Given the description of an element on the screen output the (x, y) to click on. 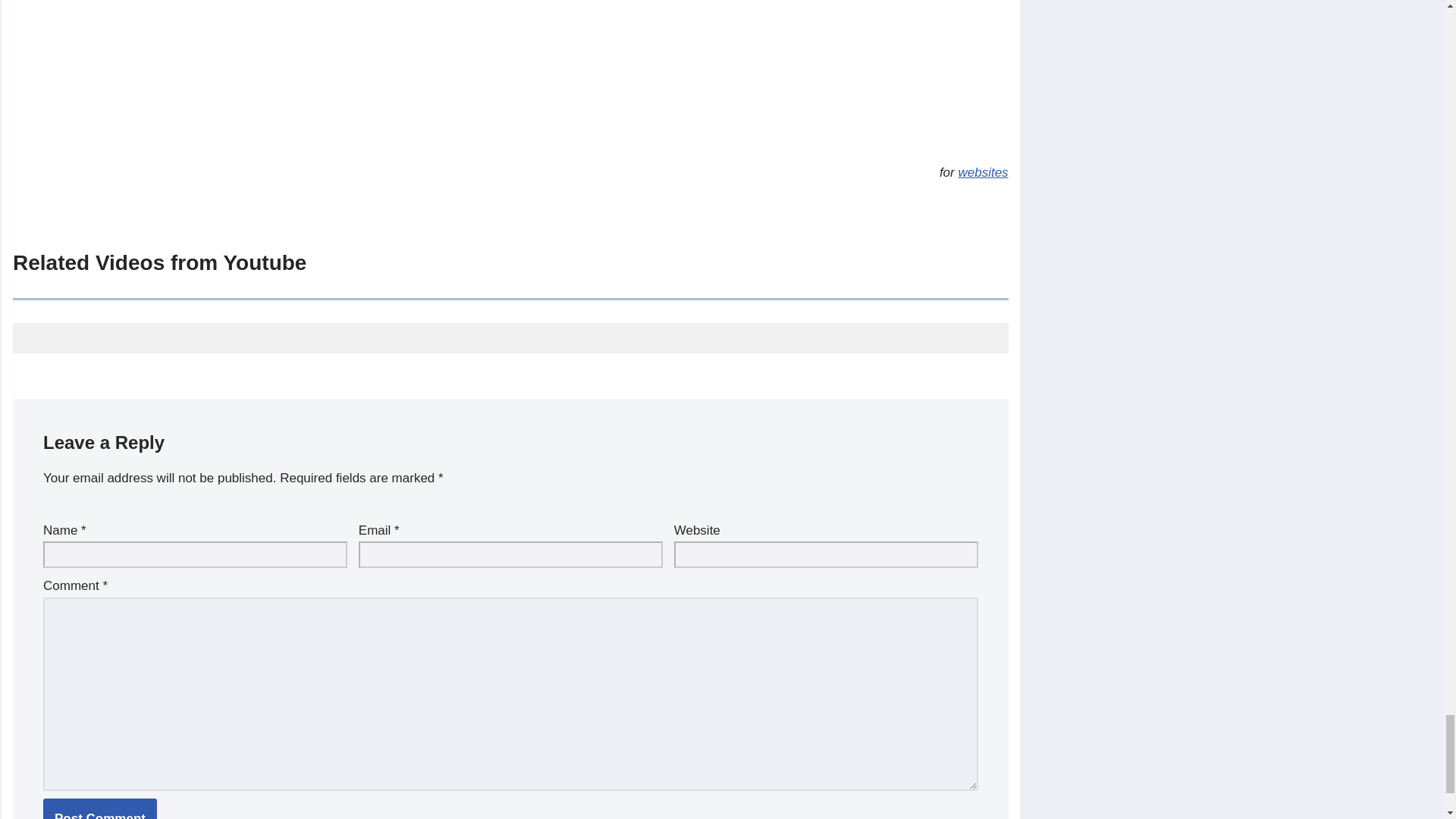
Post Comment (100, 808)
